Given the description of an element on the screen output the (x, y) to click on. 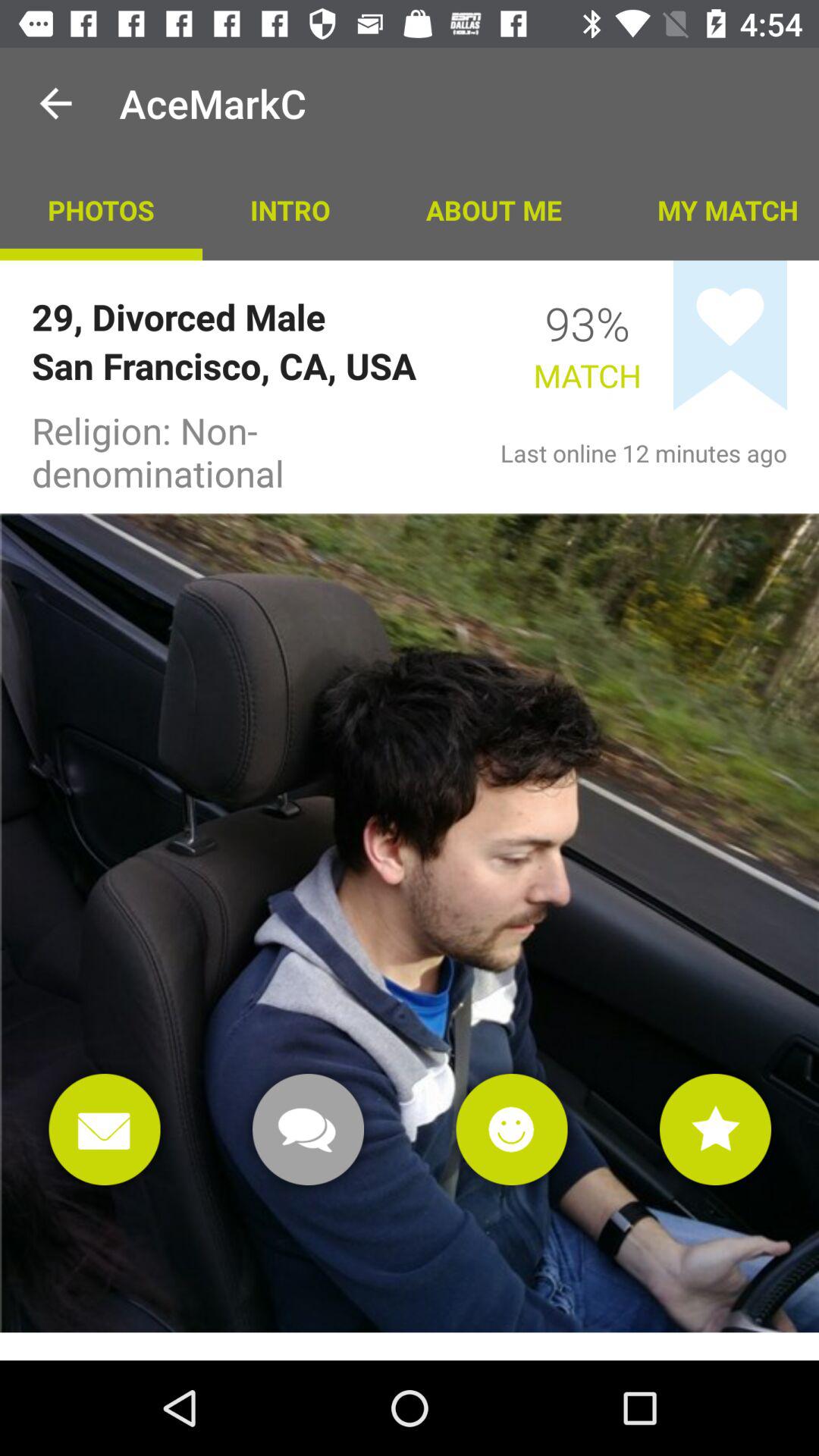
tap item next to the acemarkc item (55, 103)
